Given the description of an element on the screen output the (x, y) to click on. 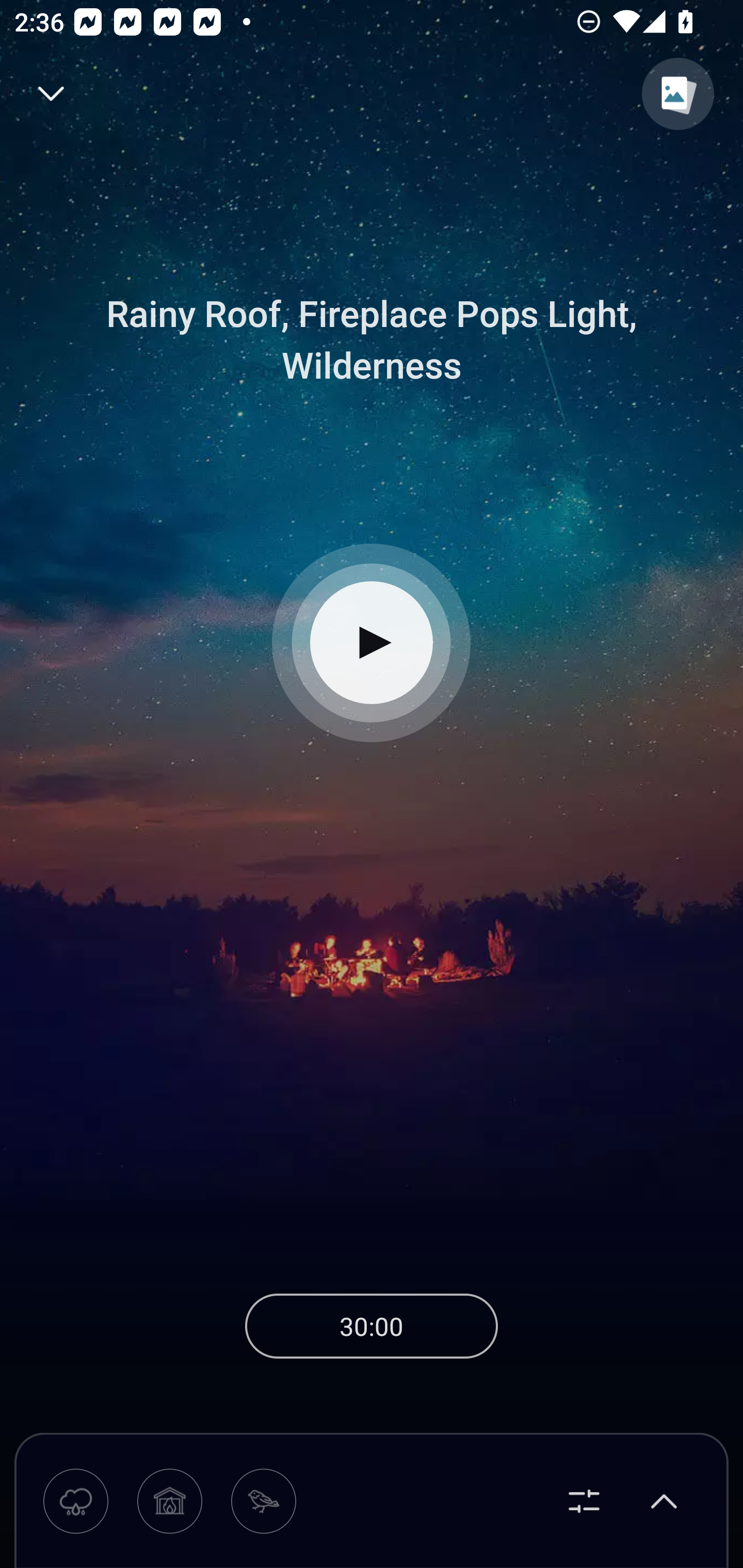
30:00 (371, 1325)
